Given the description of an element on the screen output the (x, y) to click on. 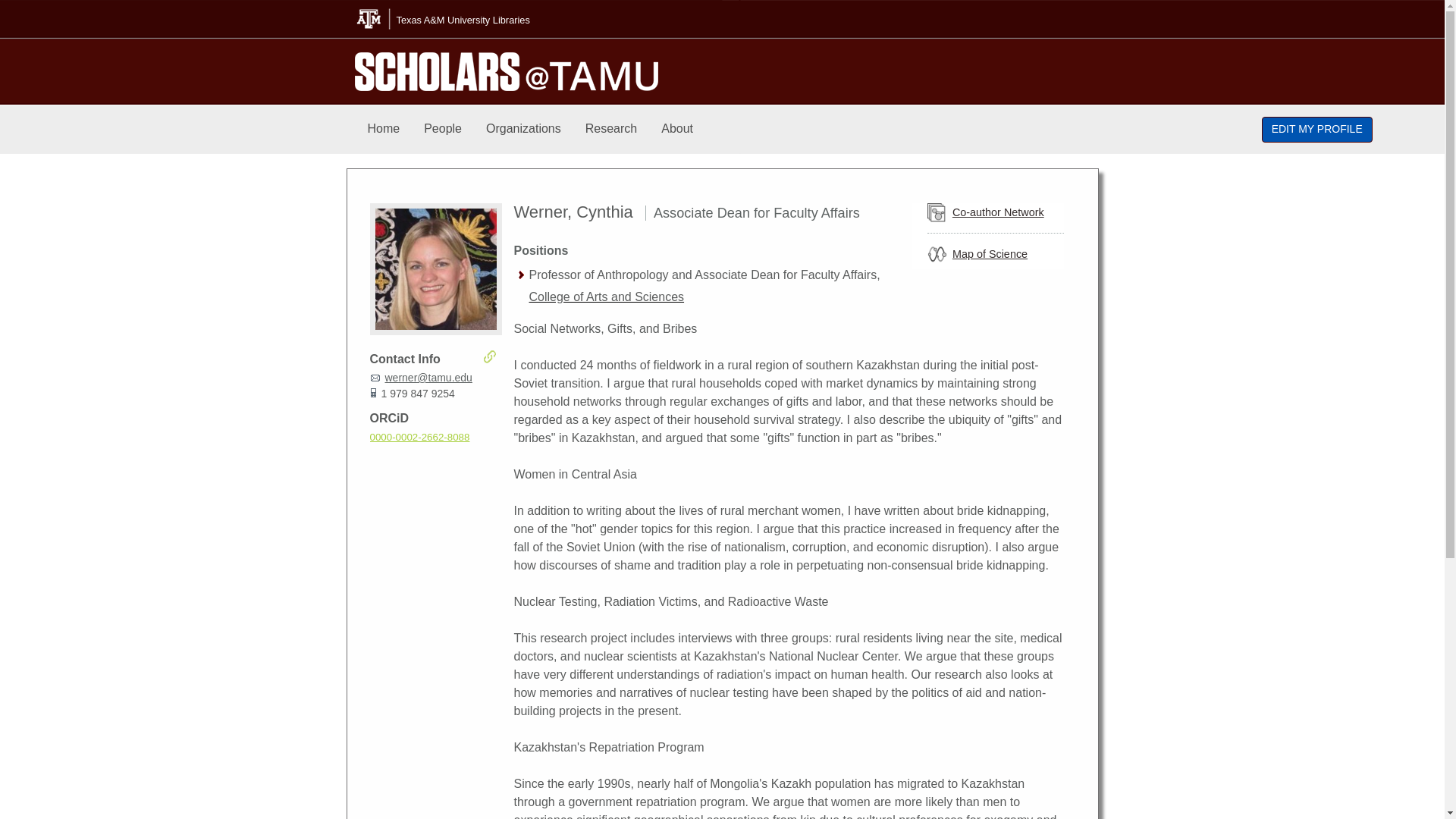
People (443, 128)
Home menu item (383, 128)
0000-0002-2662-8088 (419, 437)
EDIT MY PROFILE (1317, 129)
Home (383, 128)
email (428, 377)
Map of Science (989, 254)
Organizations menu item (523, 128)
Organizations (523, 128)
organization name (606, 296)
